Given the description of an element on the screen output the (x, y) to click on. 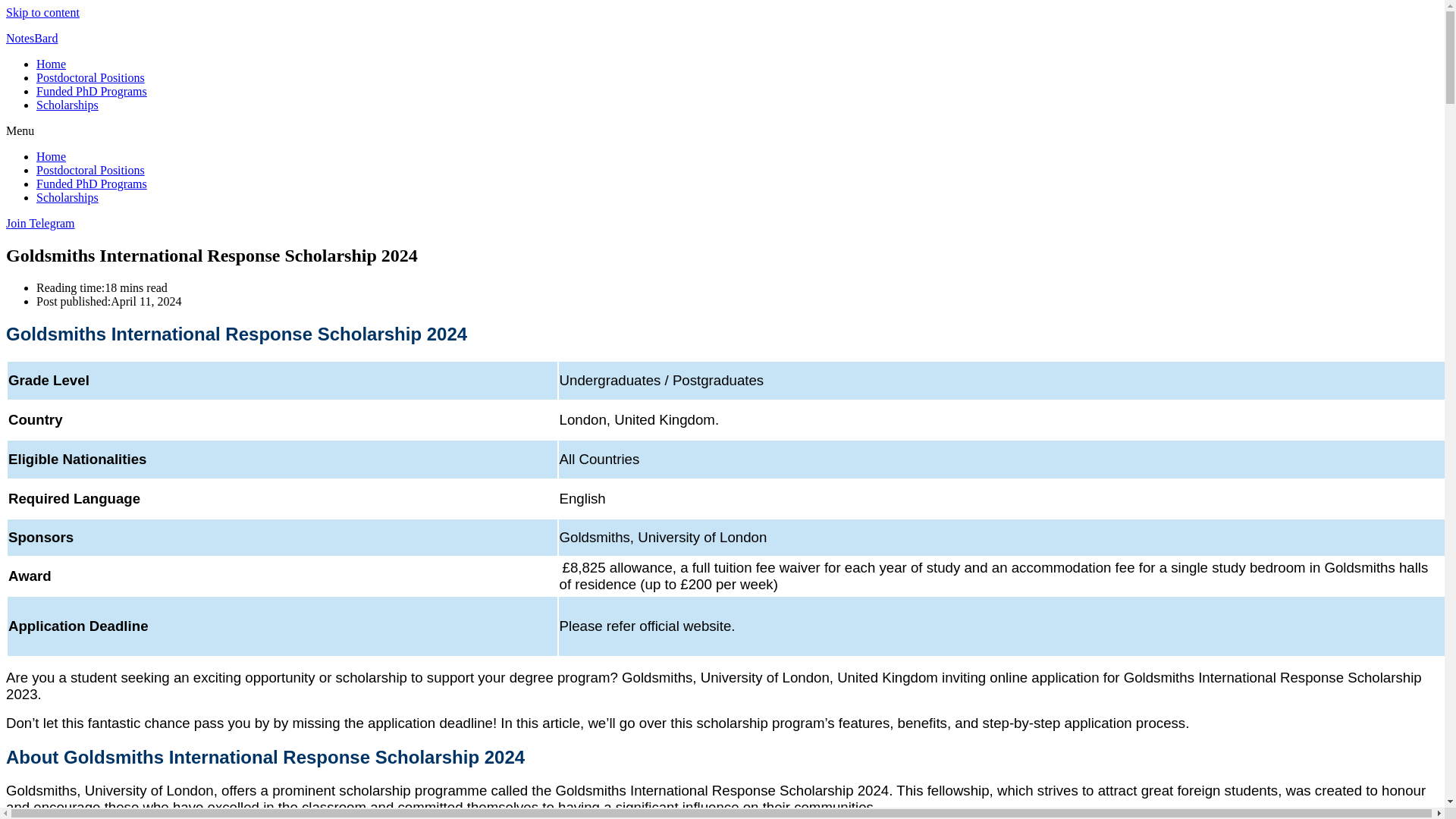
NotesBard (31, 38)
Skip to content (42, 11)
Funded PhD Programs (91, 183)
Postdoctoral Positions (90, 77)
Home (50, 155)
Postdoctoral Positions (90, 169)
Scholarships (67, 196)
Scholarships (67, 104)
Funded PhD Programs (91, 91)
Home (50, 63)
Join Telegram (40, 223)
